Given the description of an element on the screen output the (x, y) to click on. 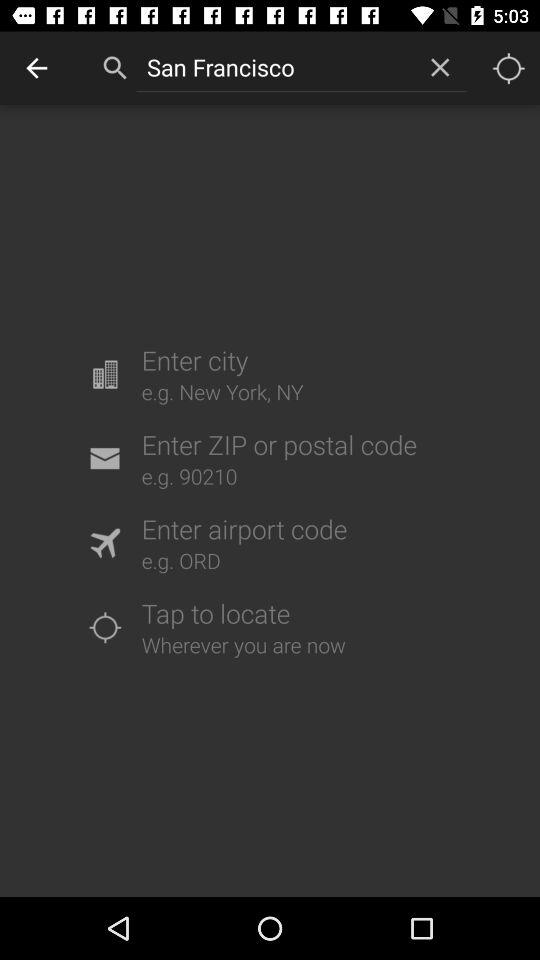
choose the item above enter zip or icon (439, 67)
